Given the description of an element on the screen output the (x, y) to click on. 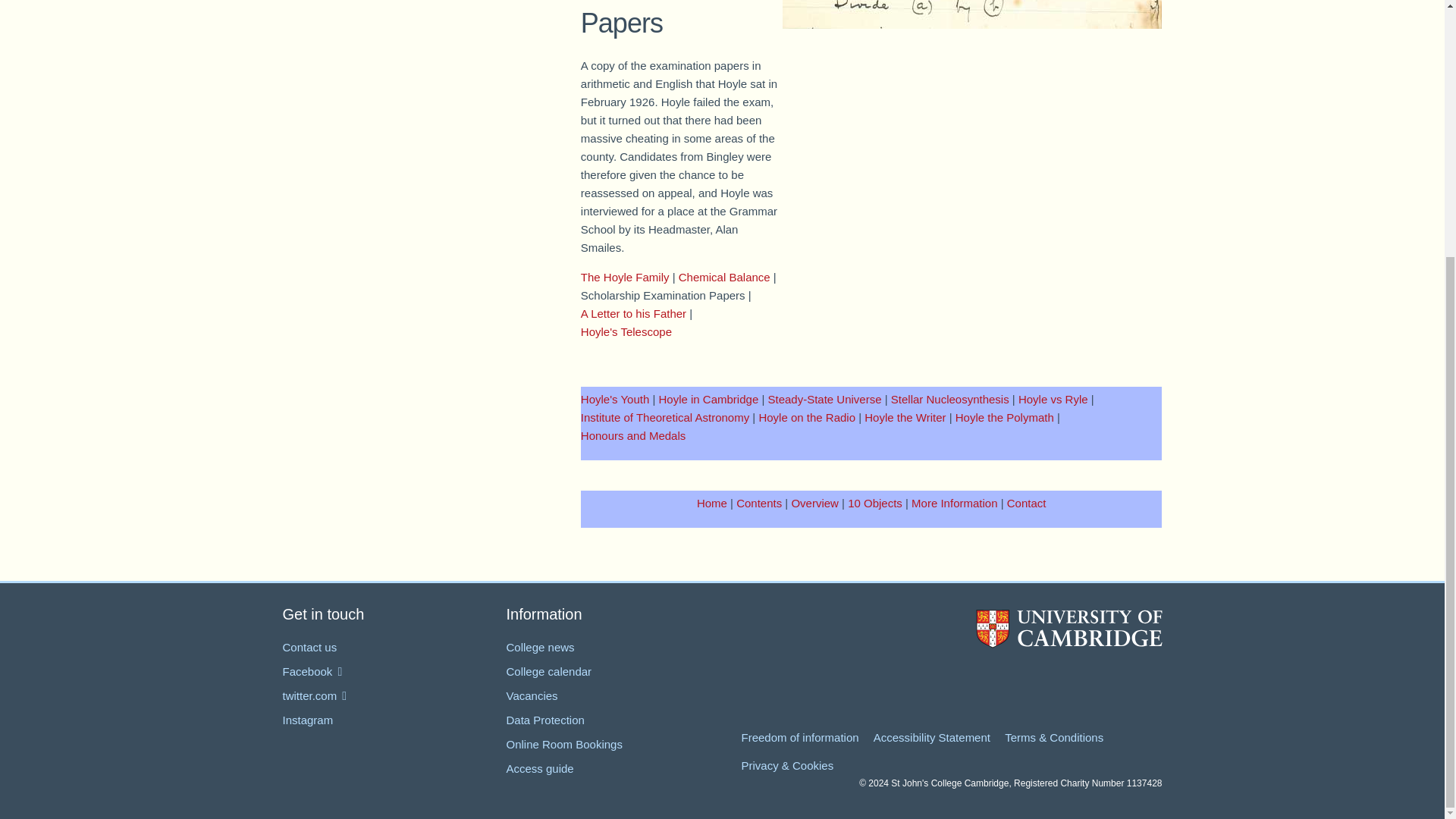
College calendar (549, 671)
Full exhibition contents list (758, 502)
Contact details for the exhibition curator (1026, 502)
Grammar school scholarship examination paper in Arithmetic (972, 14)
A history of Fred Hoyle in 10 objects (874, 502)
How to find out more about Hoyle's life and work (954, 502)
An overview of the exhibition in pictures (814, 502)
